Given the description of an element on the screen output the (x, y) to click on. 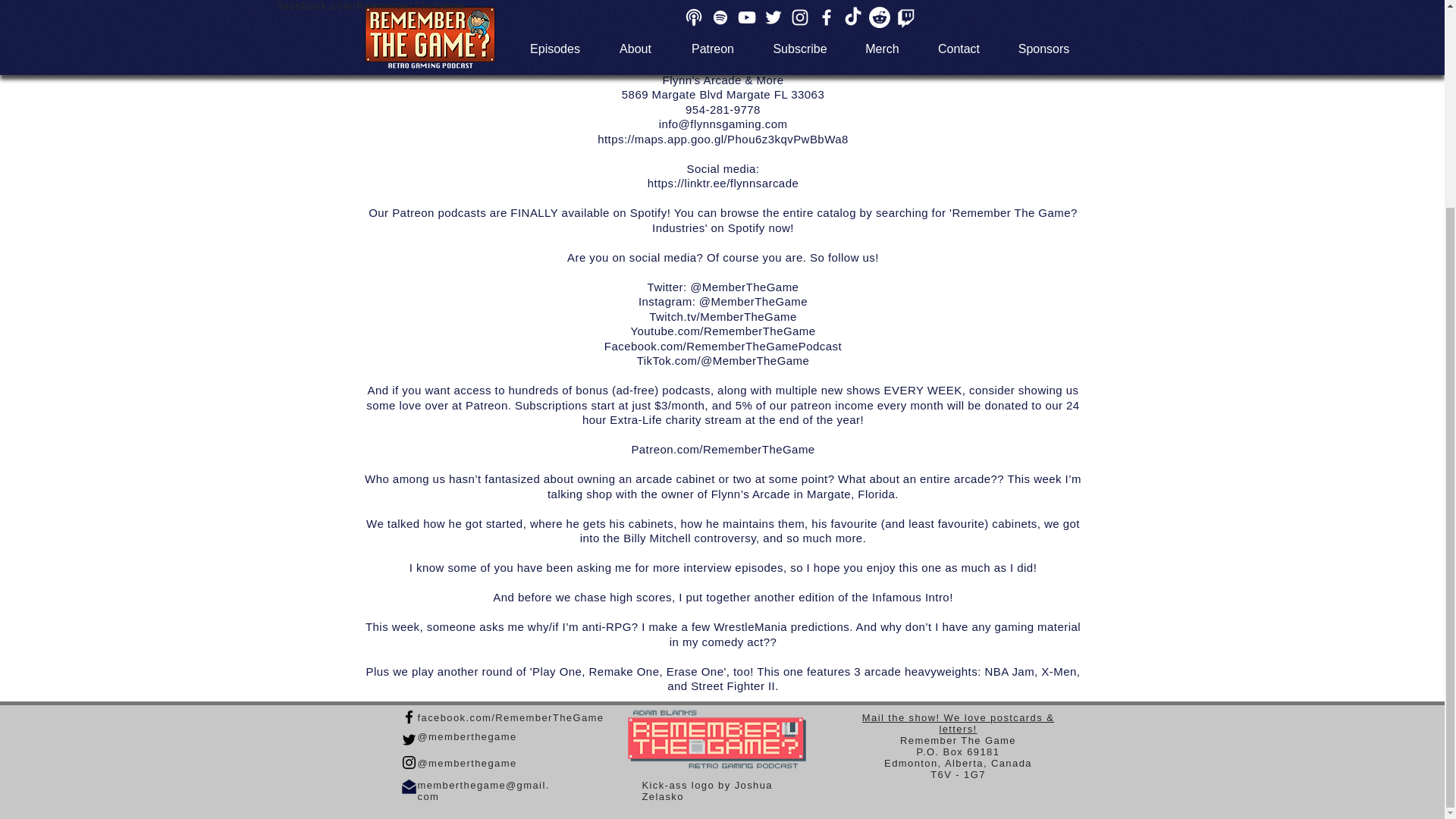
Subscribe To the Show (823, 2)
